Given the description of an element on the screen output the (x, y) to click on. 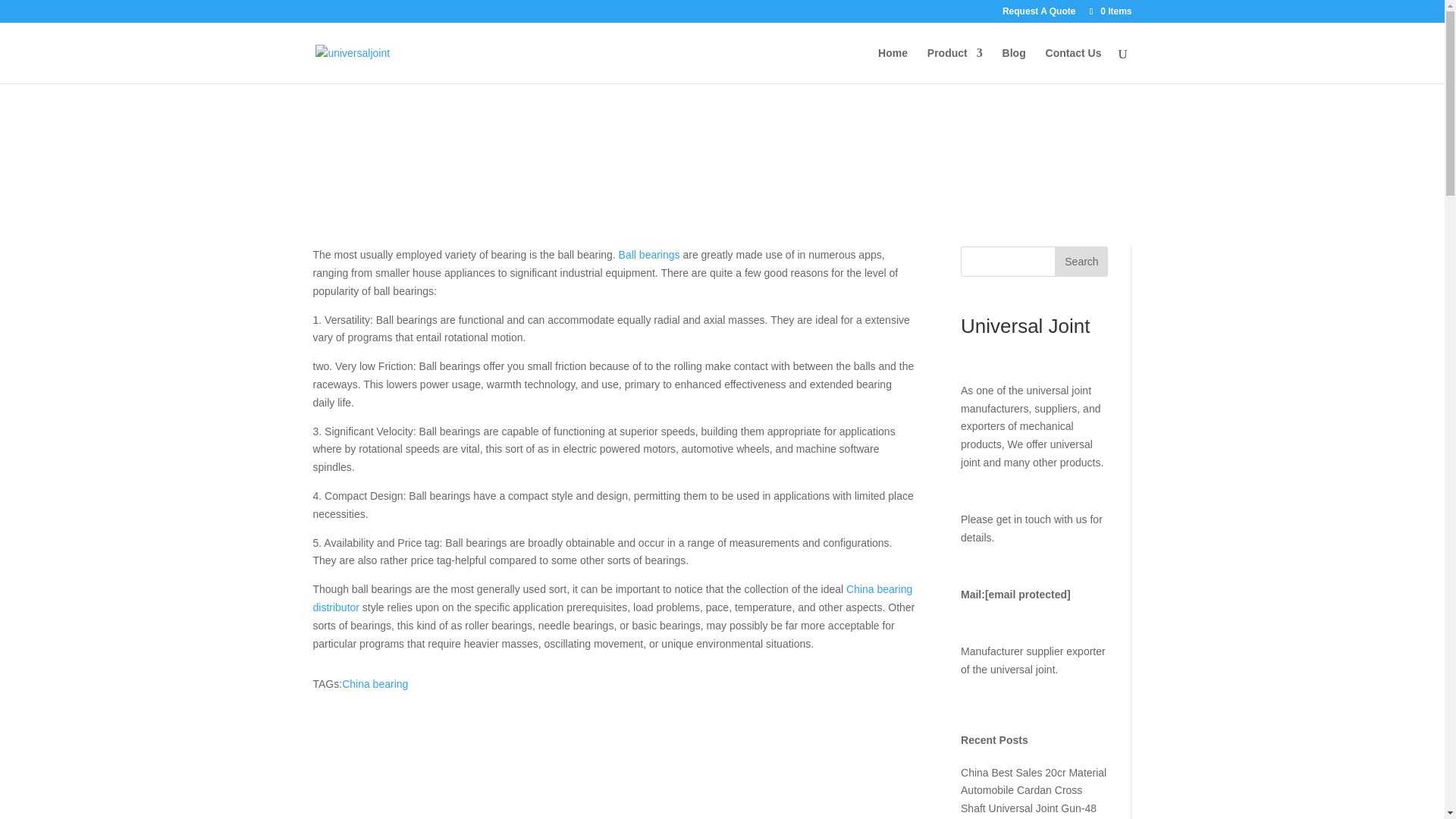
Product (954, 65)
Contact Us (1073, 65)
Ball bearings (648, 254)
China bearing distributor (612, 598)
Search (1081, 261)
Request A Quote (1039, 14)
China bearing (374, 684)
Search (1081, 261)
0 Items (1108, 10)
